Given the description of an element on the screen output the (x, y) to click on. 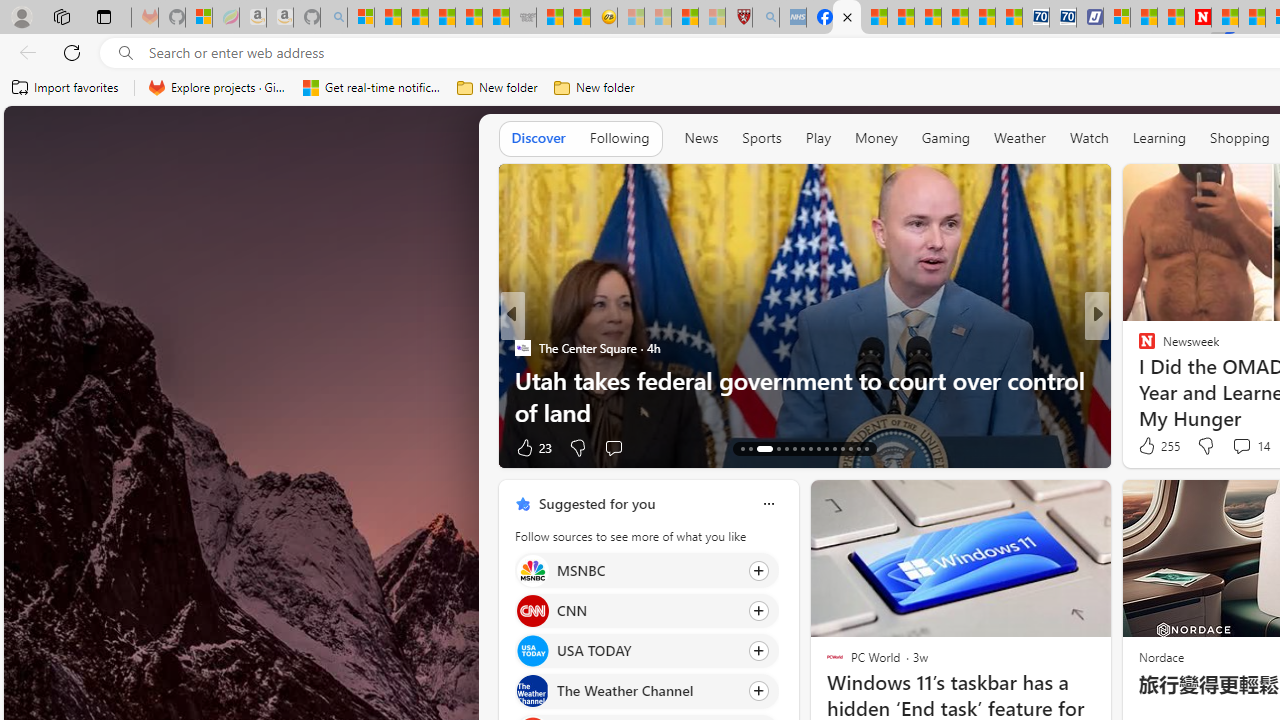
255 Like (1157, 446)
View comments 23 Comment (1244, 447)
AutomationID: tab-74 (818, 448)
View comments 23 Comment (1234, 447)
View comments 14 Comment (1249, 446)
